Given the description of an element on the screen output the (x, y) to click on. 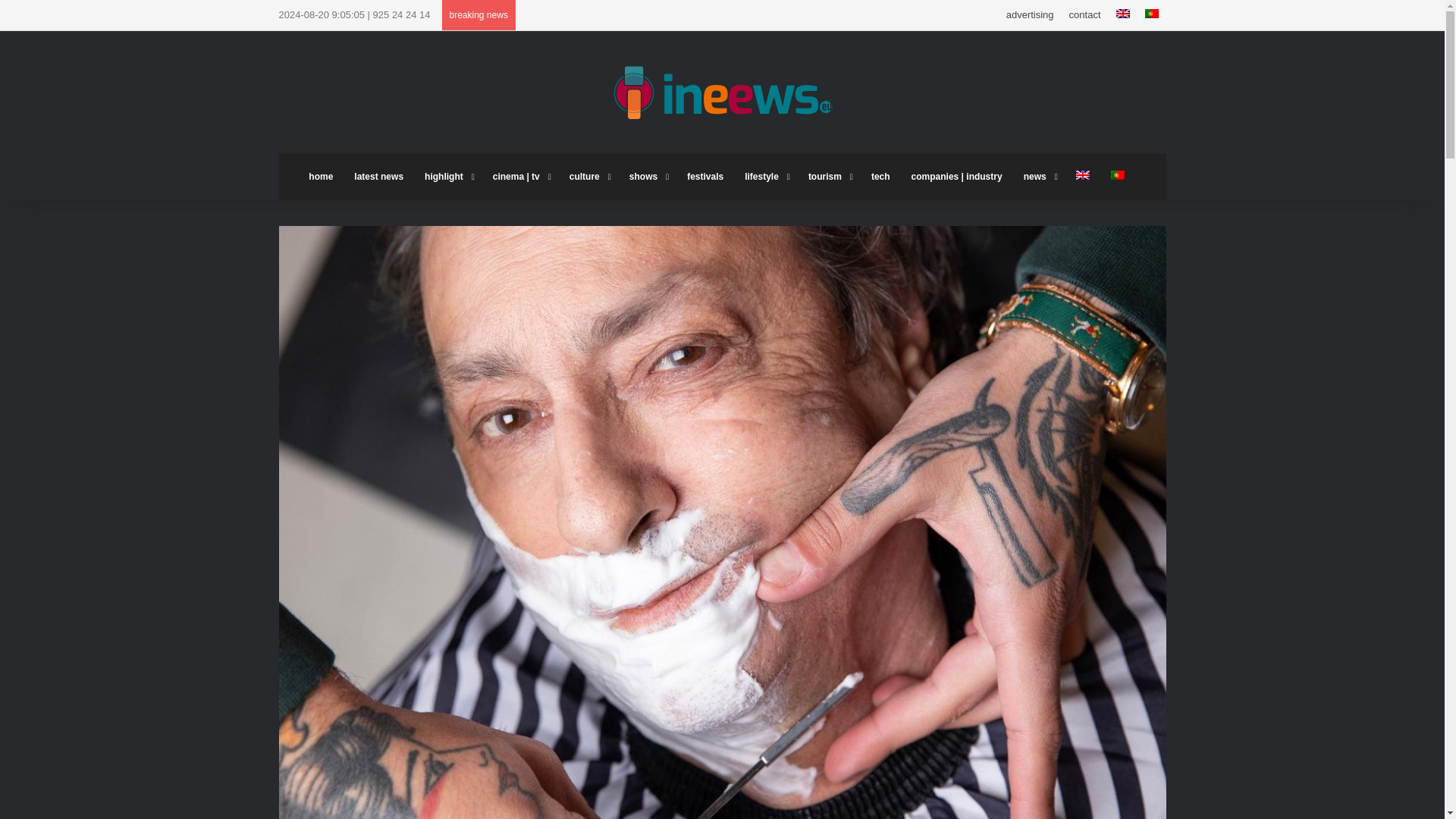
culture (588, 176)
highlight (447, 176)
home (320, 176)
latest news (378, 176)
advertising (1029, 15)
shows (647, 176)
contact (1084, 15)
